Given the description of an element on the screen output the (x, y) to click on. 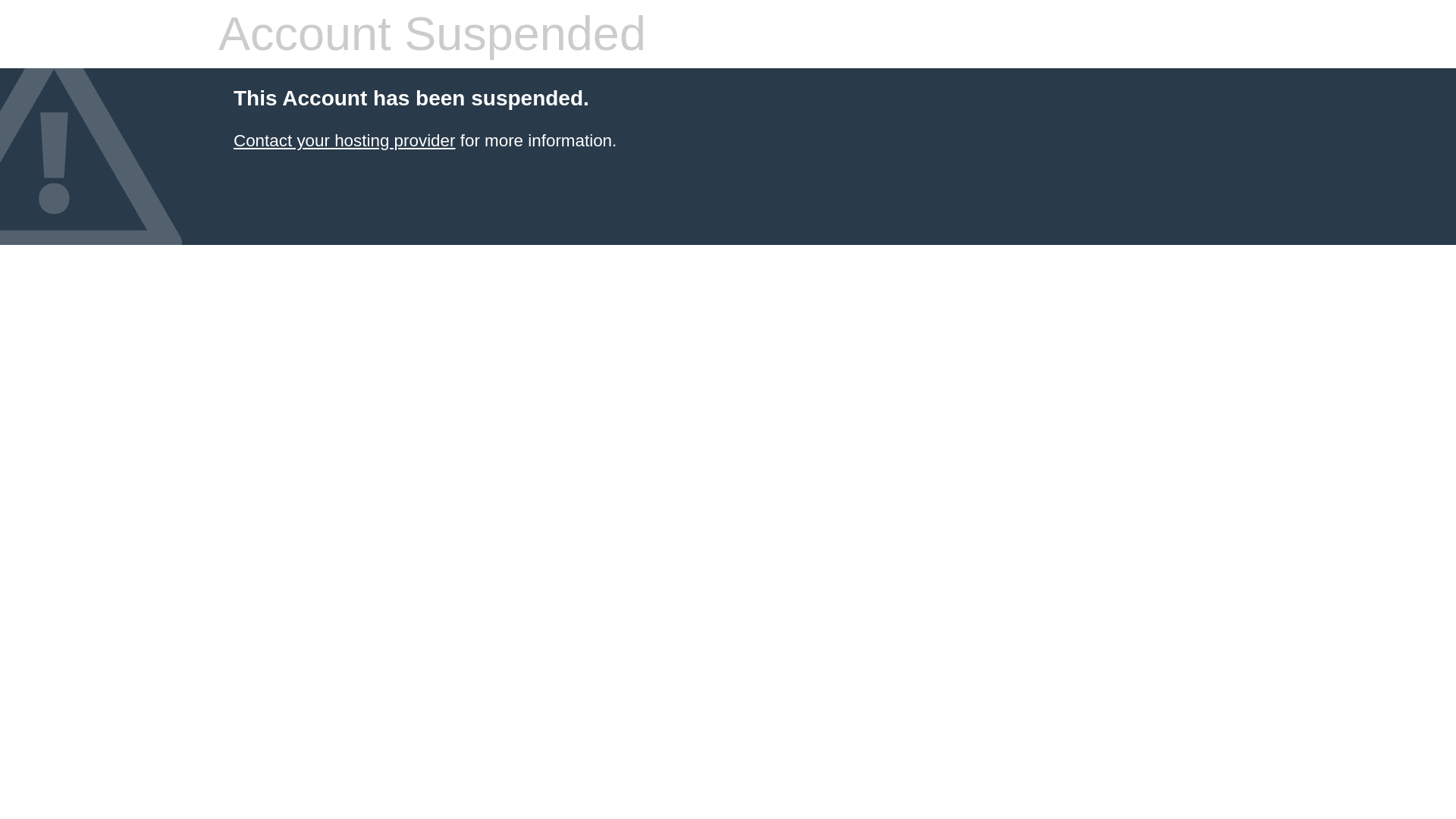
Contact your hosting provider (343, 140)
